Given the description of an element on the screen output the (x, y) to click on. 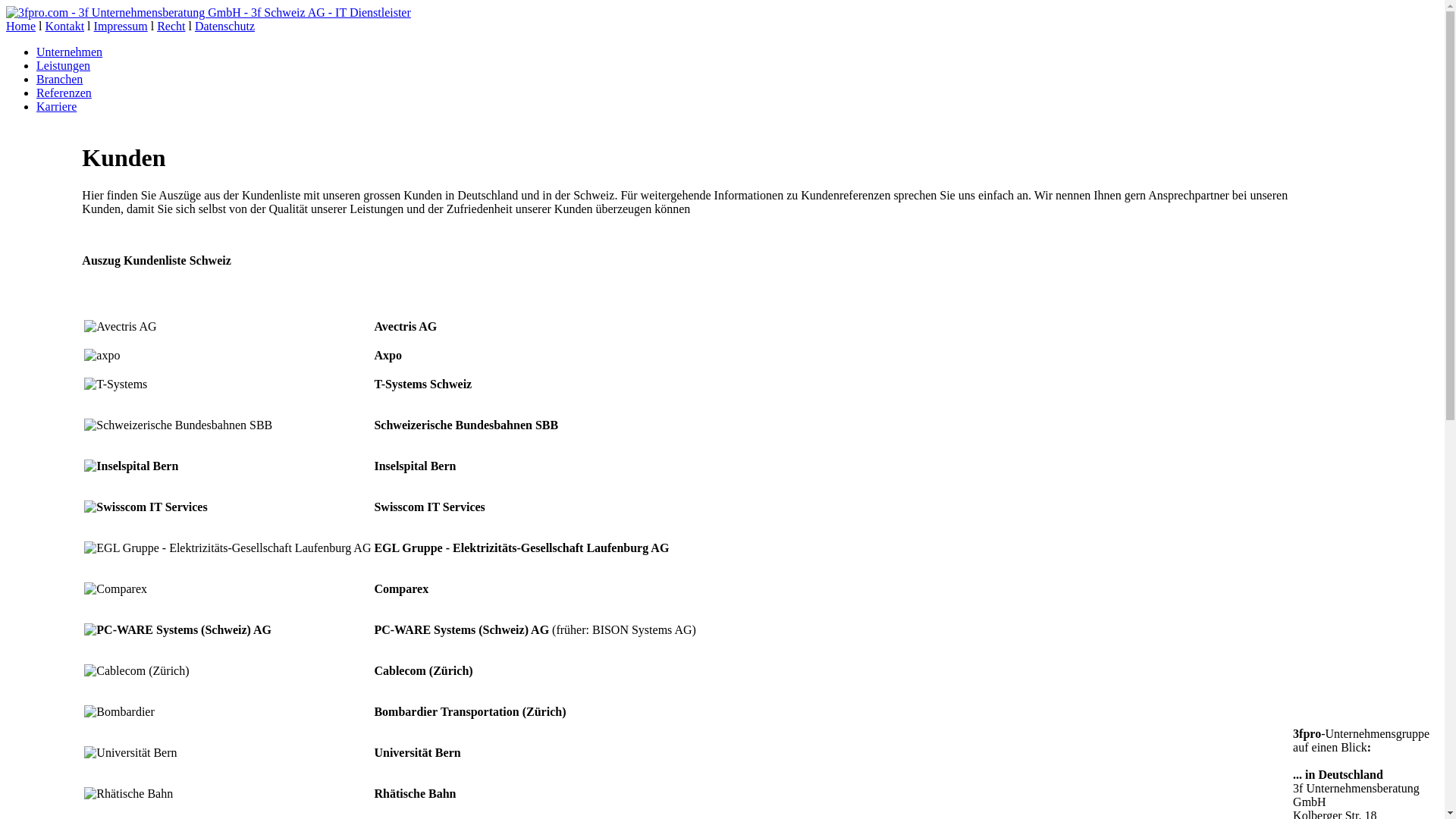
Home Element type: text (20, 25)
Karriere Element type: text (56, 106)
Referenzen Element type: text (63, 92)
Unternehmen Element type: text (69, 51)
Recht Element type: text (170, 25)
Kontakt Element type: text (64, 25)
Leistungen Element type: text (63, 65)
Impressum Element type: text (120, 25)
Branchen Element type: text (59, 78)
Datenschutz Element type: text (224, 25)
